Given the description of an element on the screen output the (x, y) to click on. 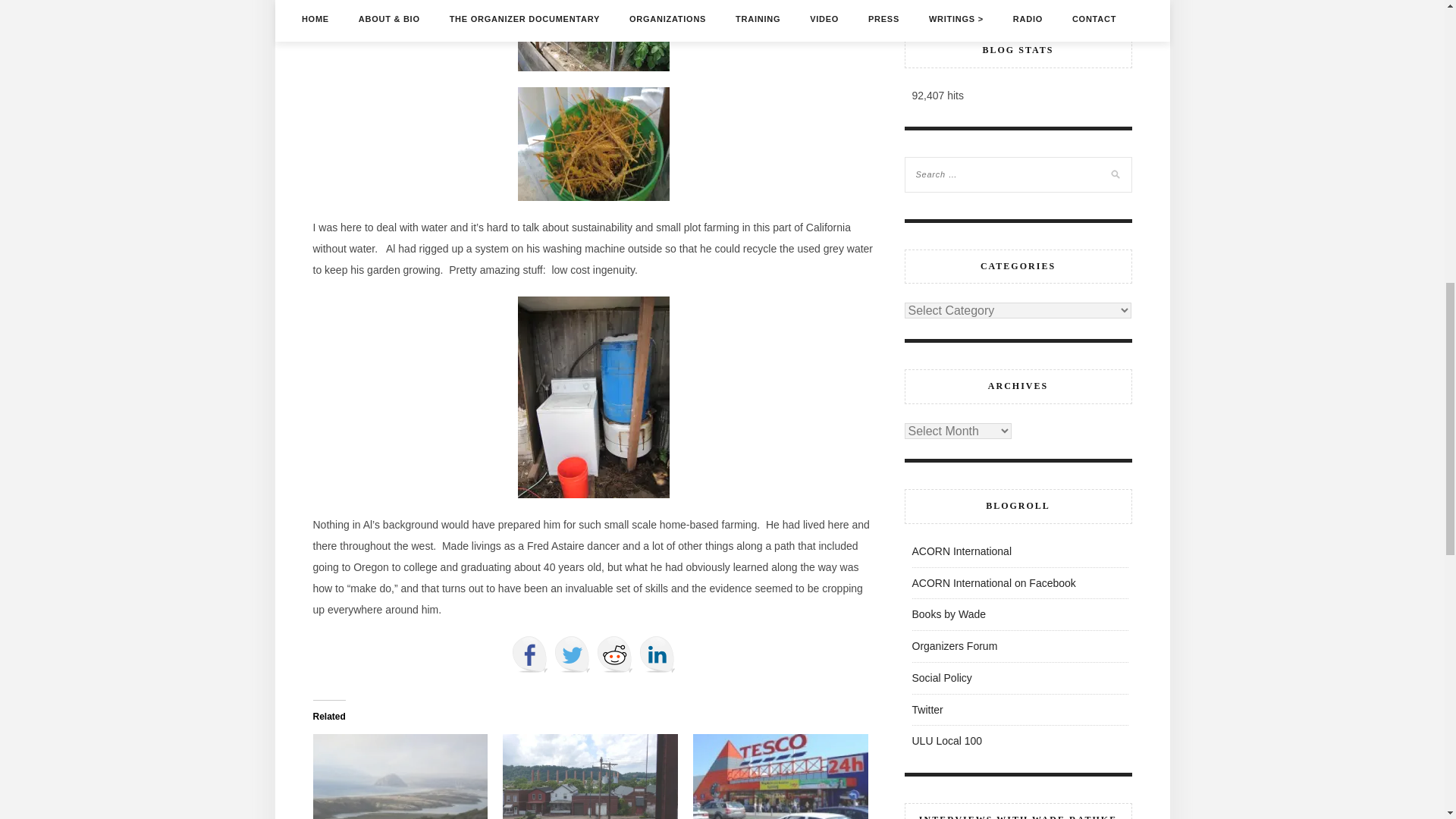
Share on LinkedIn (657, 654)
Share on Facebook (529, 654)
Share on Twitter (571, 654)
Share on Reddit (613, 654)
